Given the description of an element on the screen output the (x, y) to click on. 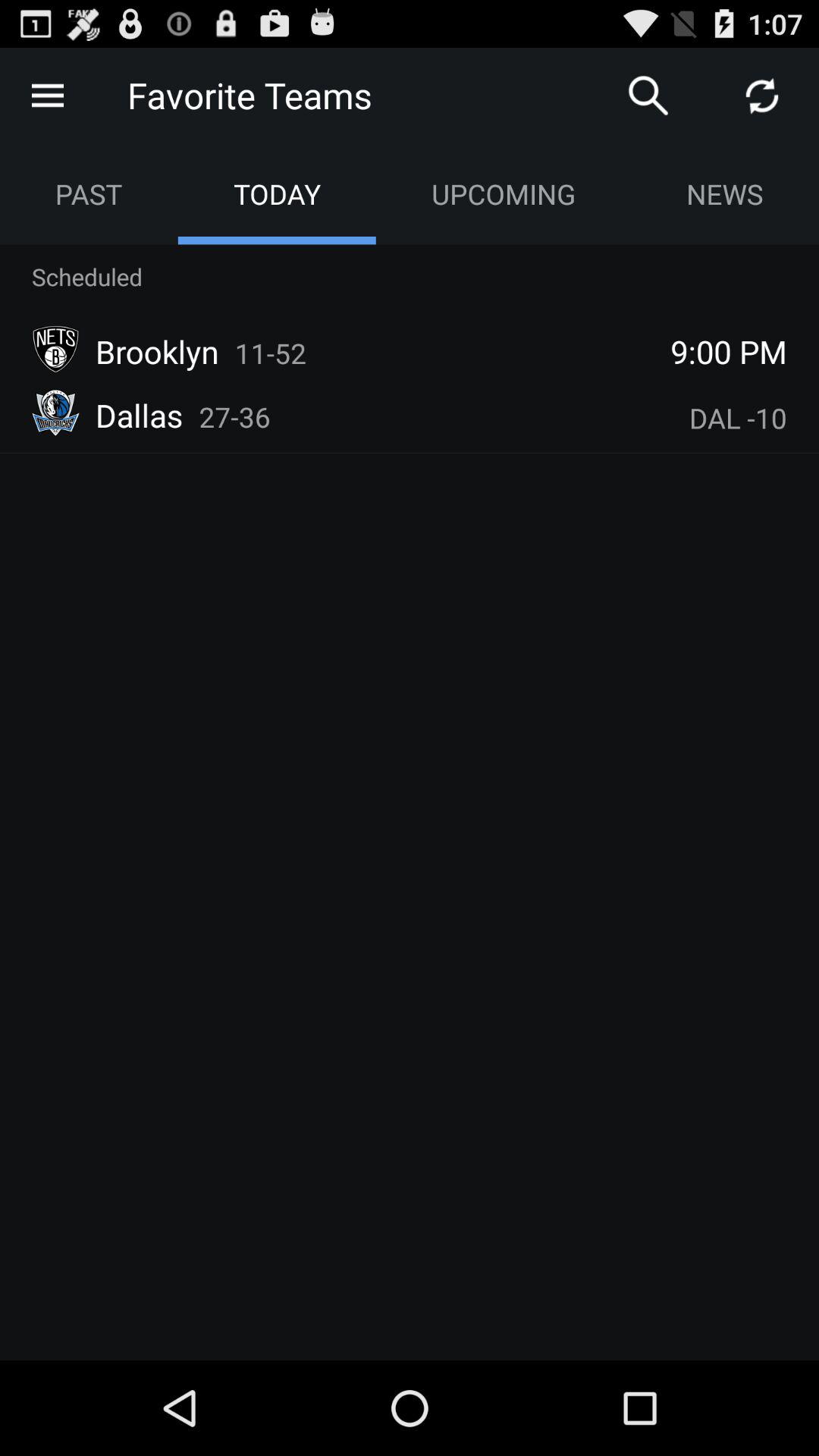
turn on app below past icon (86, 276)
